Given the description of an element on the screen output the (x, y) to click on. 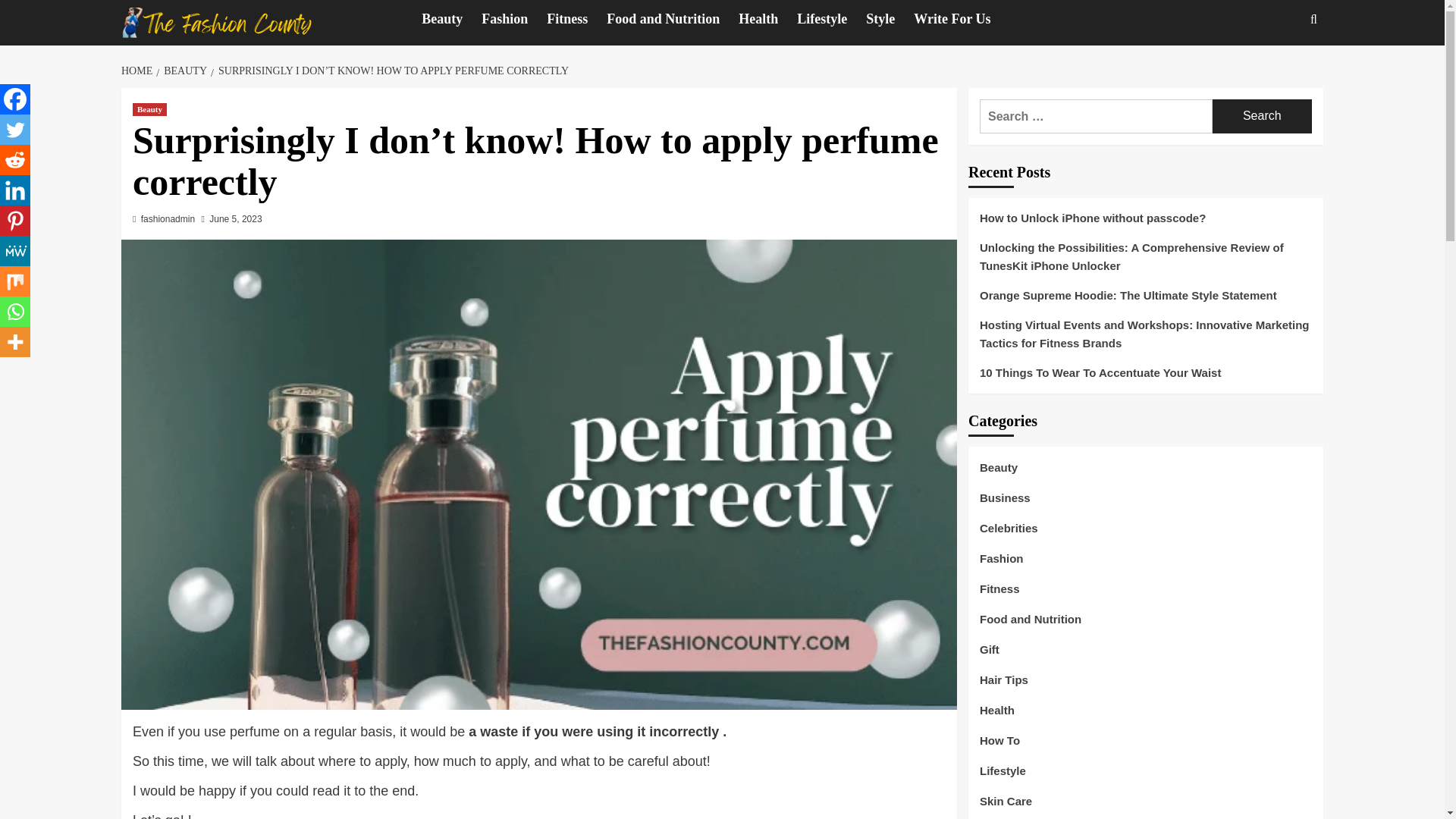
Health (767, 19)
Mix (15, 281)
Twitter (15, 129)
fashionadmin (168, 218)
Fashion (514, 19)
Write For Us (961, 19)
Style (890, 19)
Reddit (15, 159)
Fitness (577, 19)
Search (1261, 116)
Facebook (15, 99)
Beauty (149, 109)
Pinterest (15, 220)
Search (1261, 116)
Search (1278, 65)
